Given the description of an element on the screen output the (x, y) to click on. 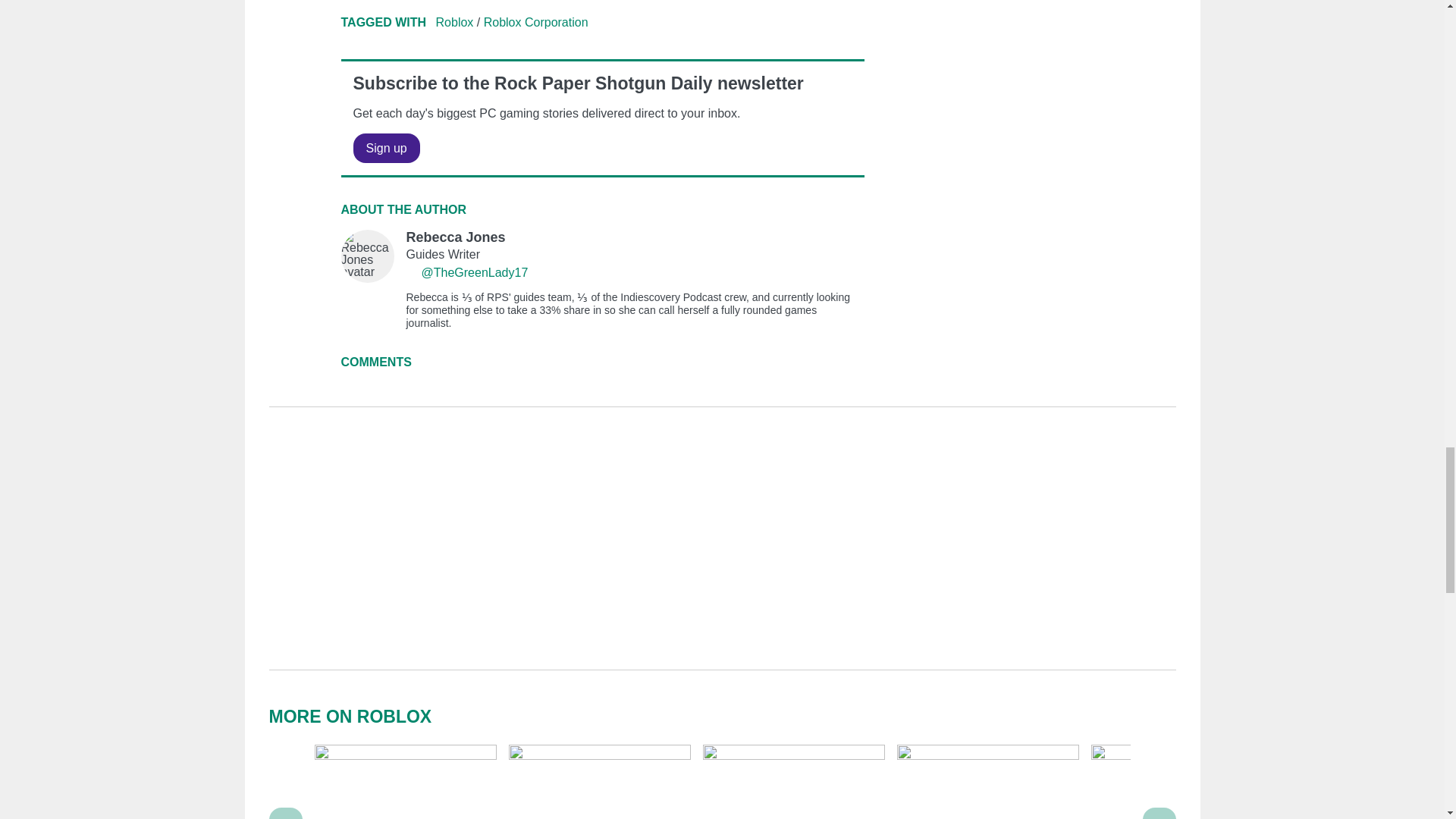
Follow Rebecca Jones on Twitter (412, 272)
Move backwards (285, 813)
Move forwards (1158, 813)
Rebecca Jones (602, 280)
